Given the description of an element on the screen output the (x, y) to click on. 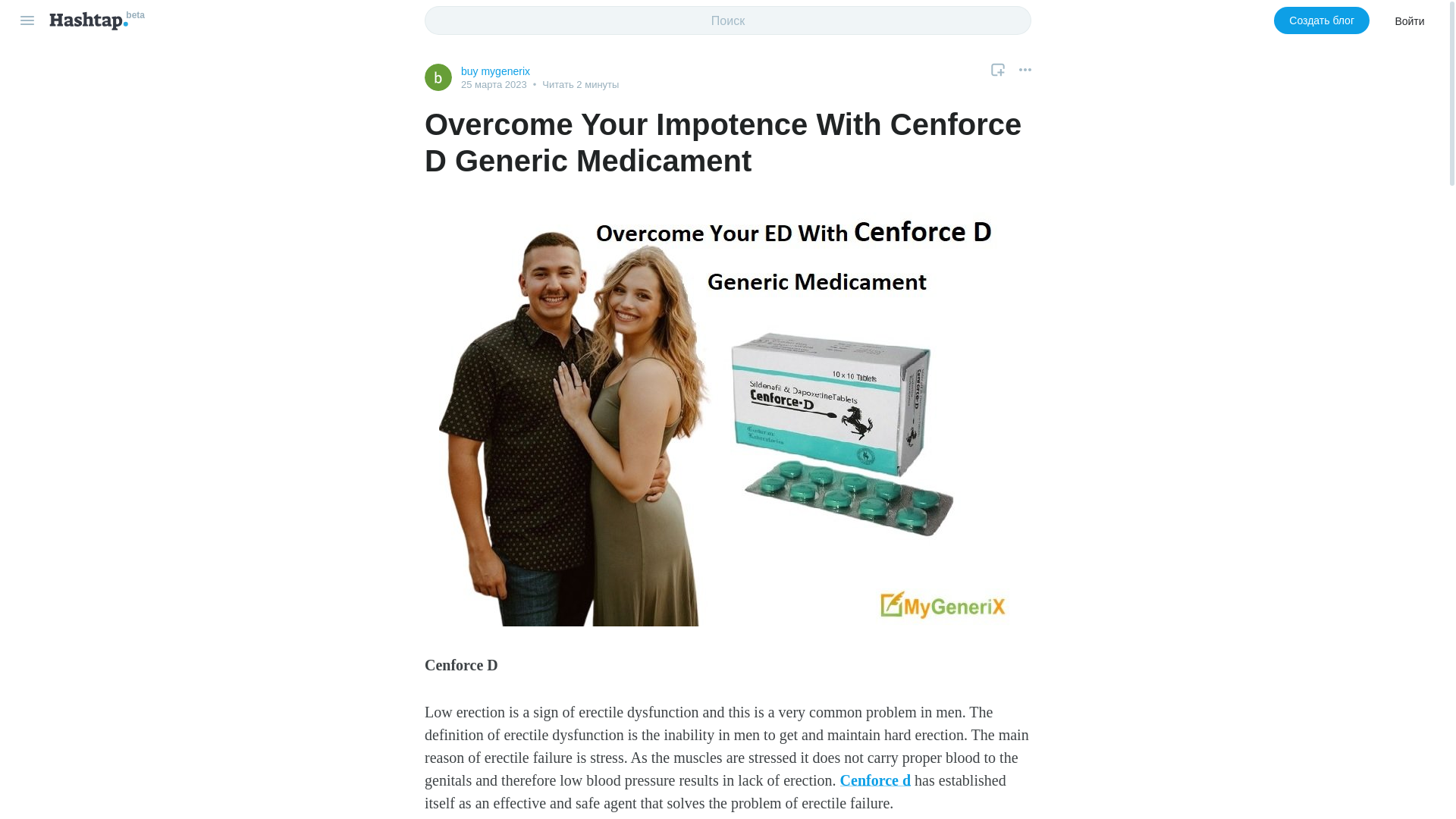
Cenforce d (875, 780)
buy mygenerix (495, 70)
